Given the description of an element on the screen output the (x, y) to click on. 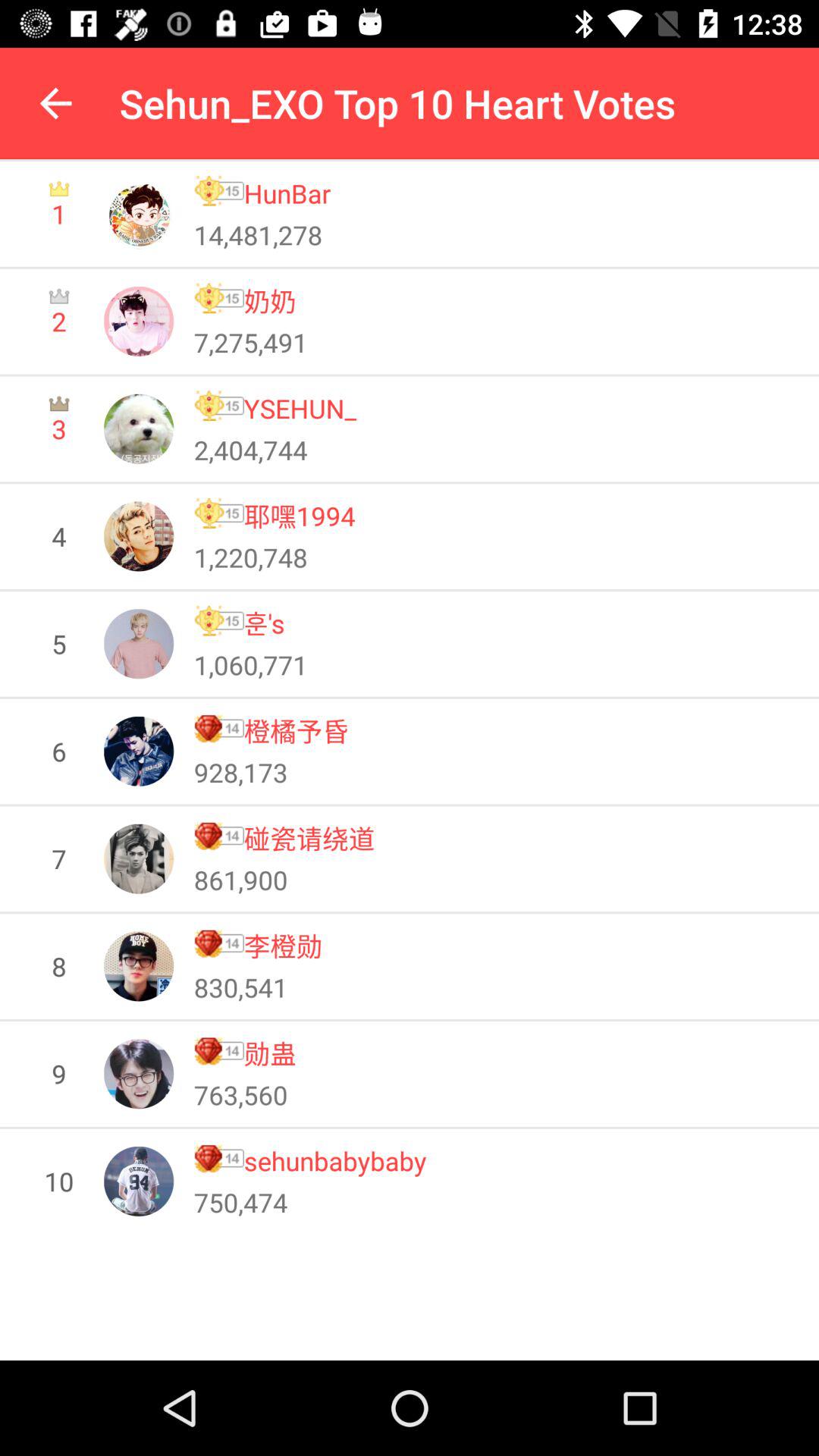
tap item to the left of sehun_exo top 10 item (55, 103)
